Given the description of an element on the screen output the (x, y) to click on. 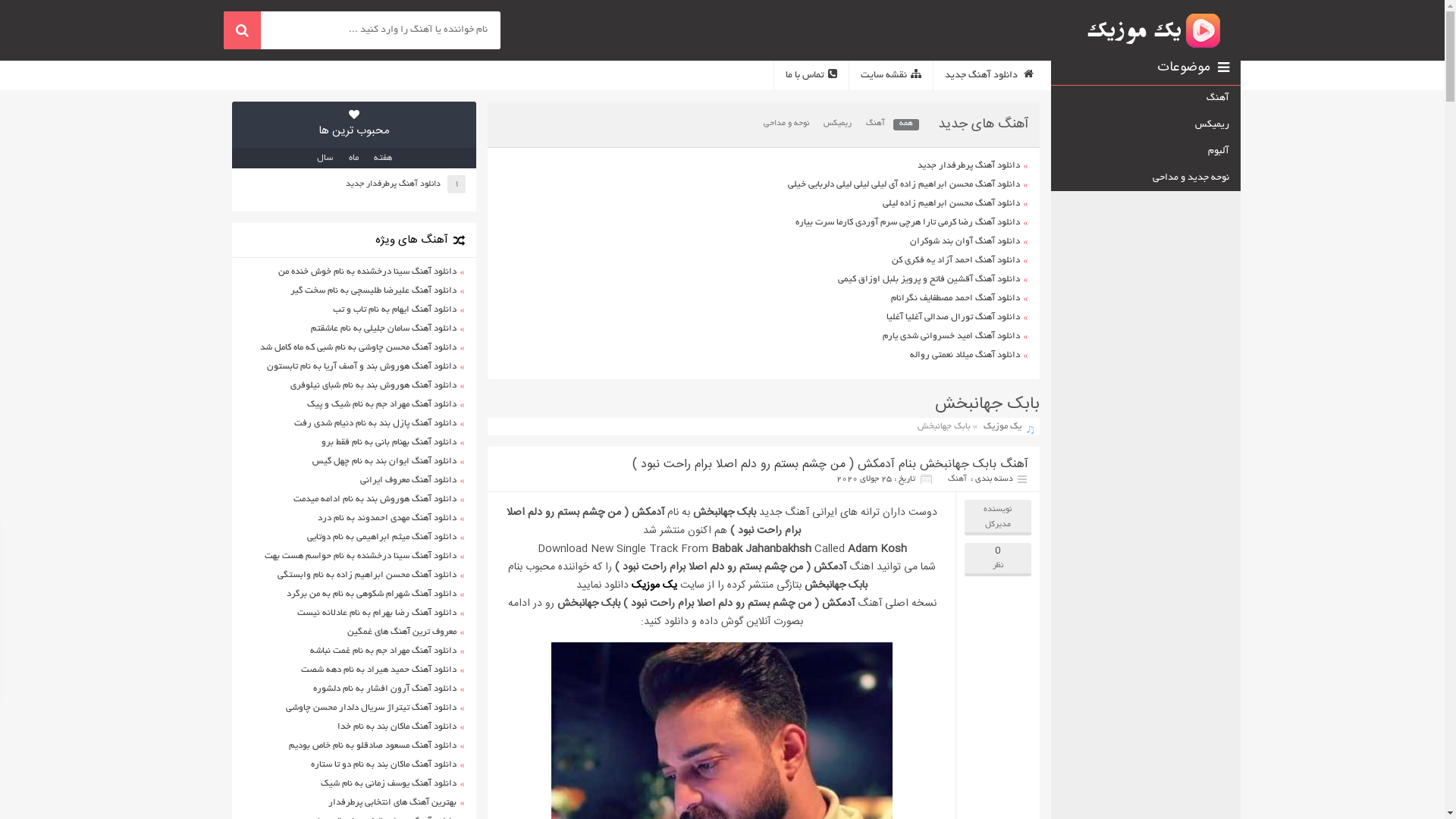
0 Element type: text (997, 550)
